Given the description of an element on the screen output the (x, y) to click on. 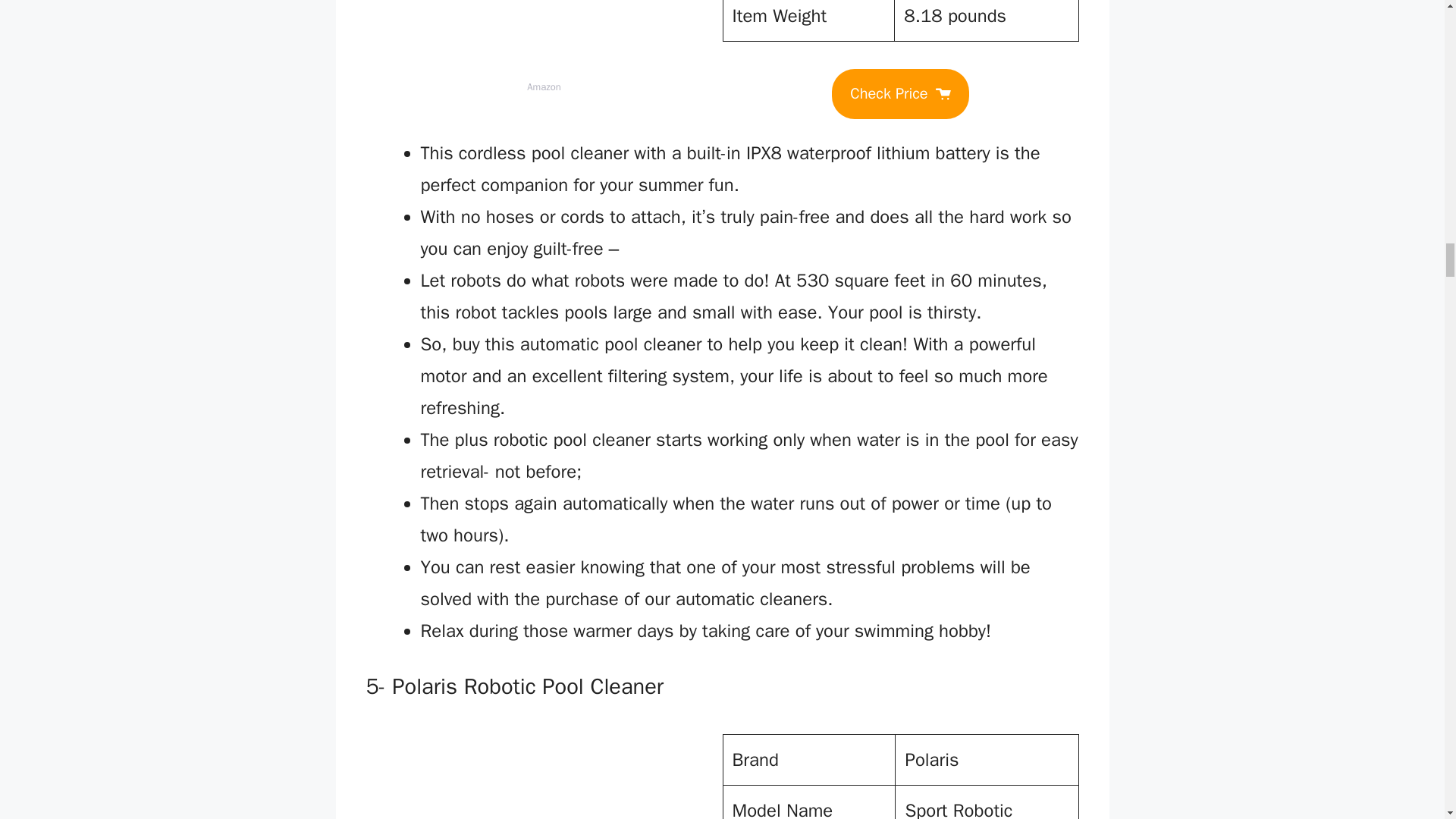
Check Price (899, 93)
